Given the description of an element on the screen output the (x, y) to click on. 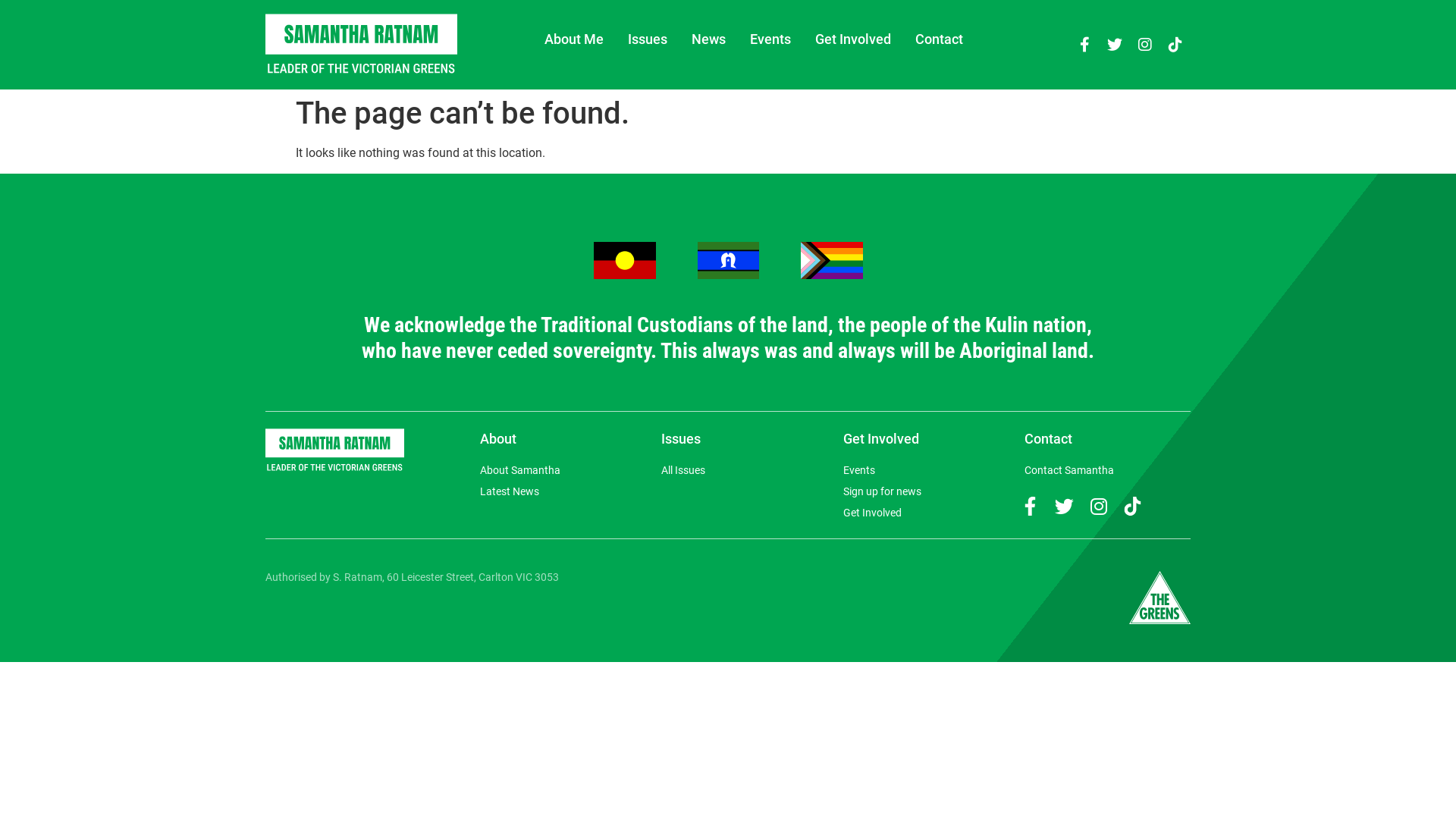
Events Element type: text (769, 38)
Contact Samantha Element type: text (1107, 470)
Get Involved Element type: text (853, 38)
Issues Element type: text (647, 38)
Events Element type: text (926, 470)
Latest News Element type: text (563, 491)
Contact Element type: text (939, 38)
Get Involved Element type: text (926, 512)
About Me Element type: text (573, 38)
Sign up for news Element type: text (926, 491)
News Element type: text (708, 38)
All Issues Element type: text (735, 470)
About Samantha Element type: text (563, 470)
